Given the description of an element on the screen output the (x, y) to click on. 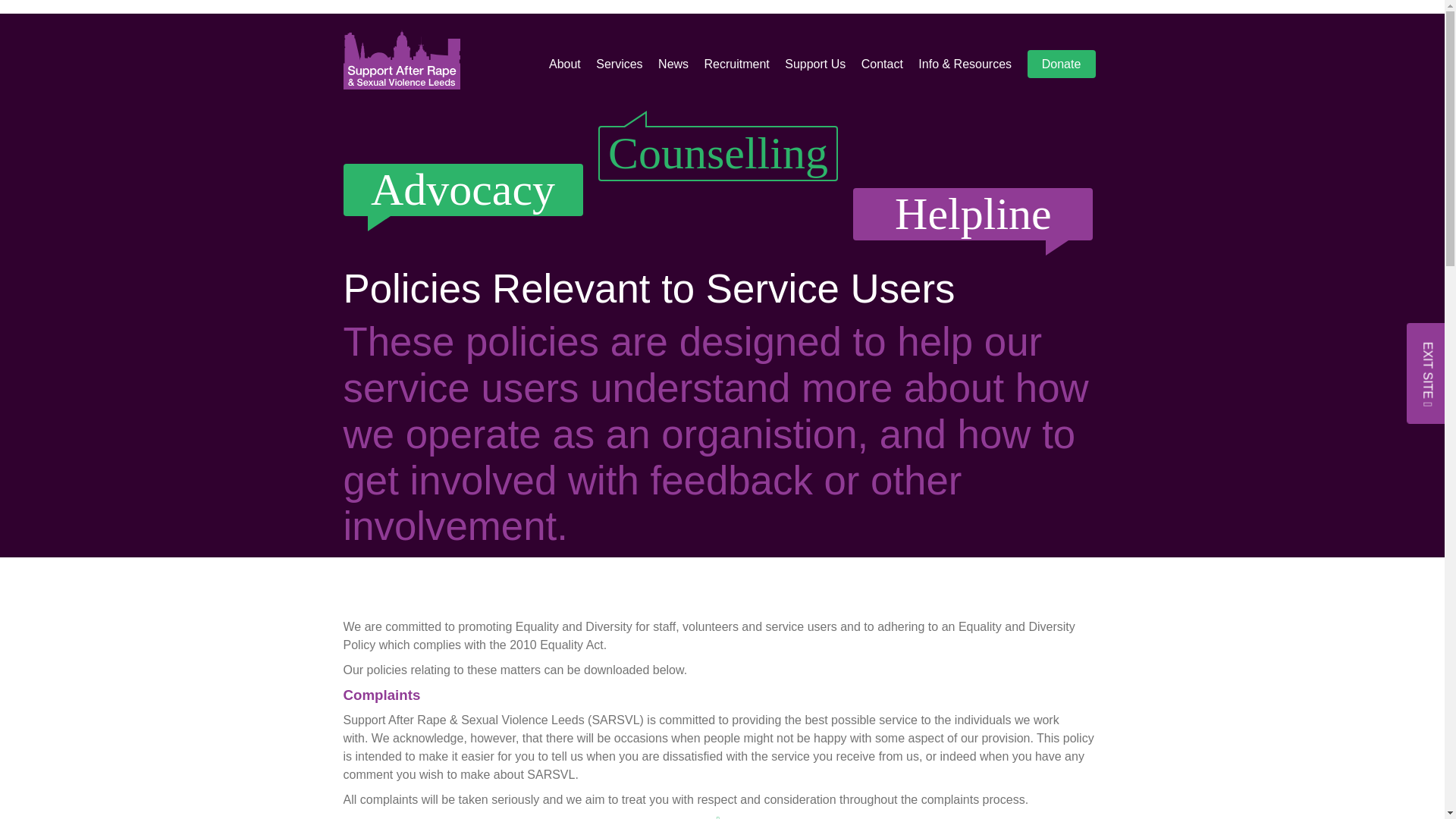
Support Us (814, 63)
About (564, 63)
sffactoryrolex (504, 15)
Services (618, 63)
Recruitment (737, 63)
News (673, 63)
Donate (1061, 63)
Contact (881, 63)
